Given the description of an element on the screen output the (x, y) to click on. 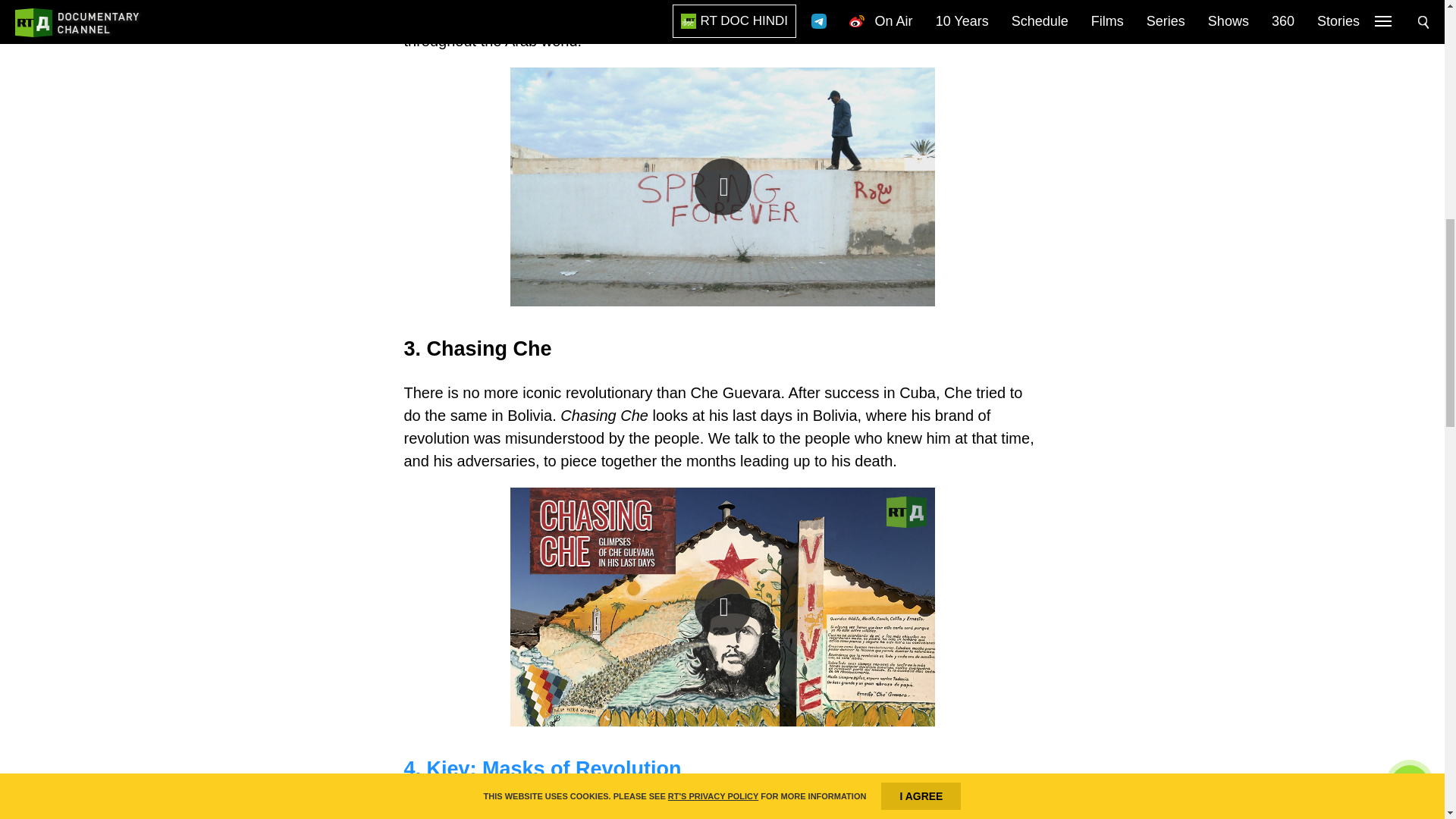
4. Kiev: Masks of Revolution (542, 768)
